Given the description of an element on the screen output the (x, y) to click on. 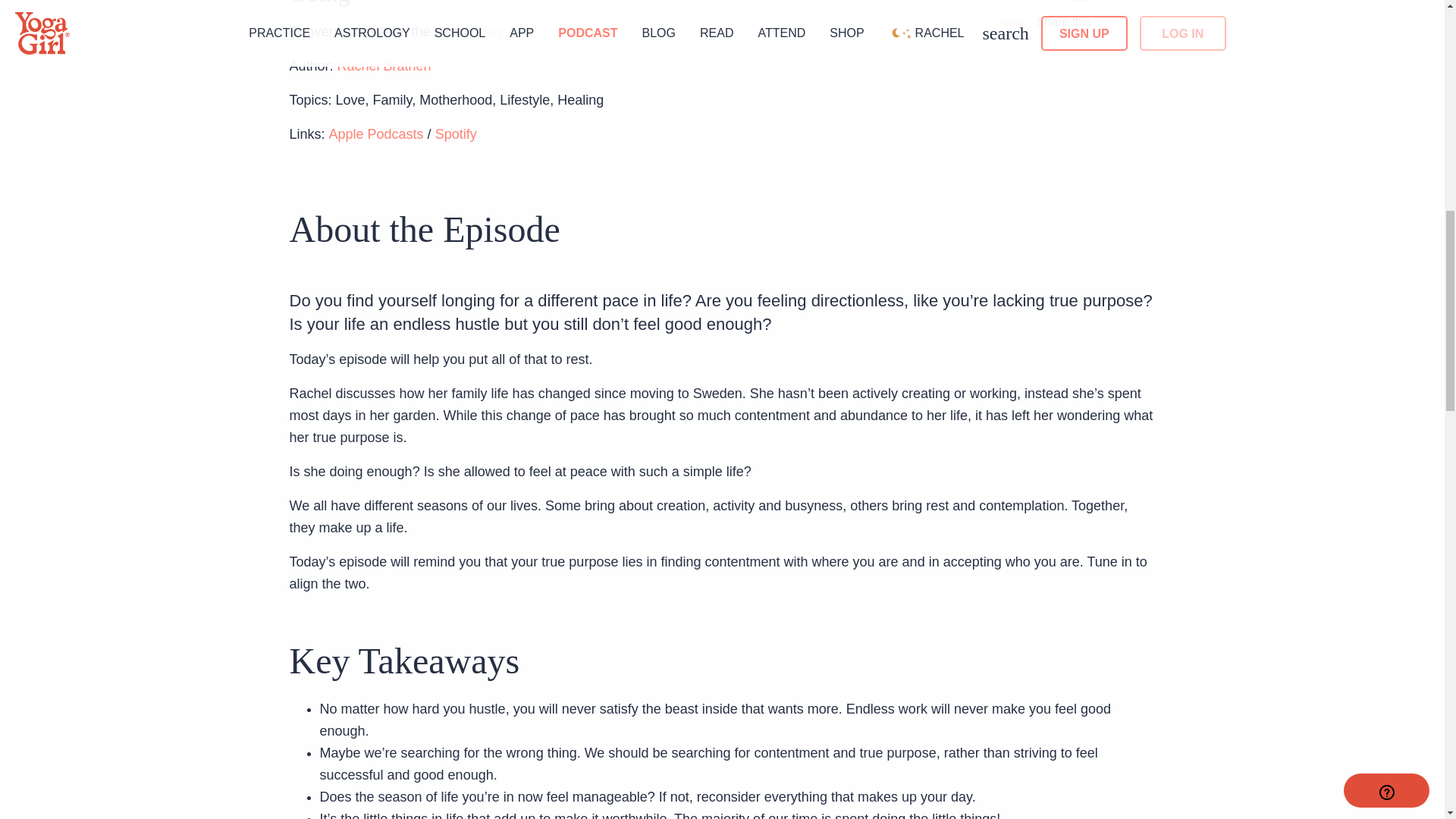
Rachel Brathen (383, 65)
Favorite (1075, 1)
Share this (1043, 21)
